Given the description of an element on the screen output the (x, y) to click on. 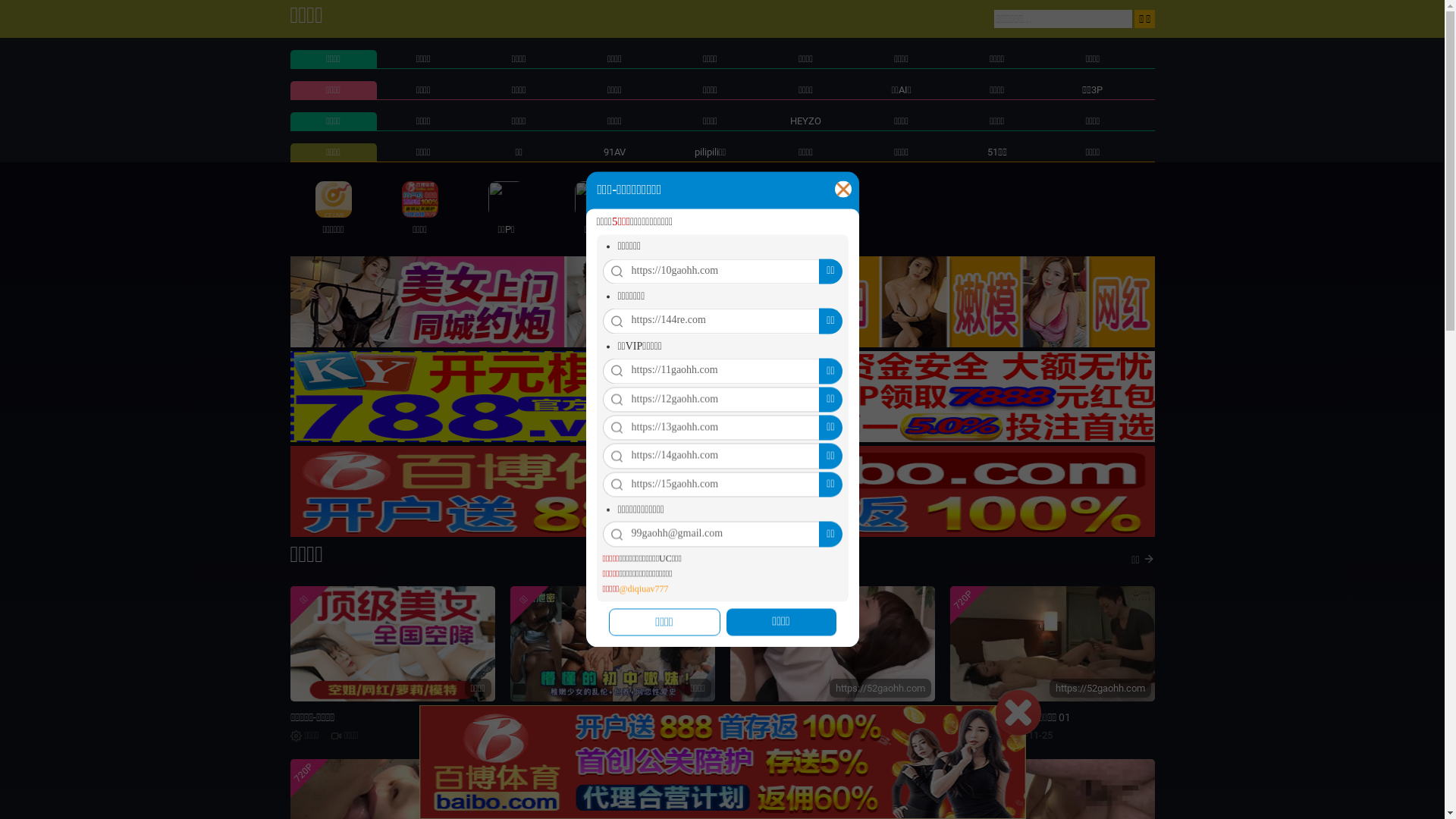
HEYZO Element type: text (805, 120)
@diqiuav777 Element type: text (643, 589)
720P
https://52gaohh.com Element type: text (831, 643)
91AV Element type: text (614, 151)
720P
https://52gaohh.com Element type: text (1051, 643)
